Given the description of an element on the screen output the (x, y) to click on. 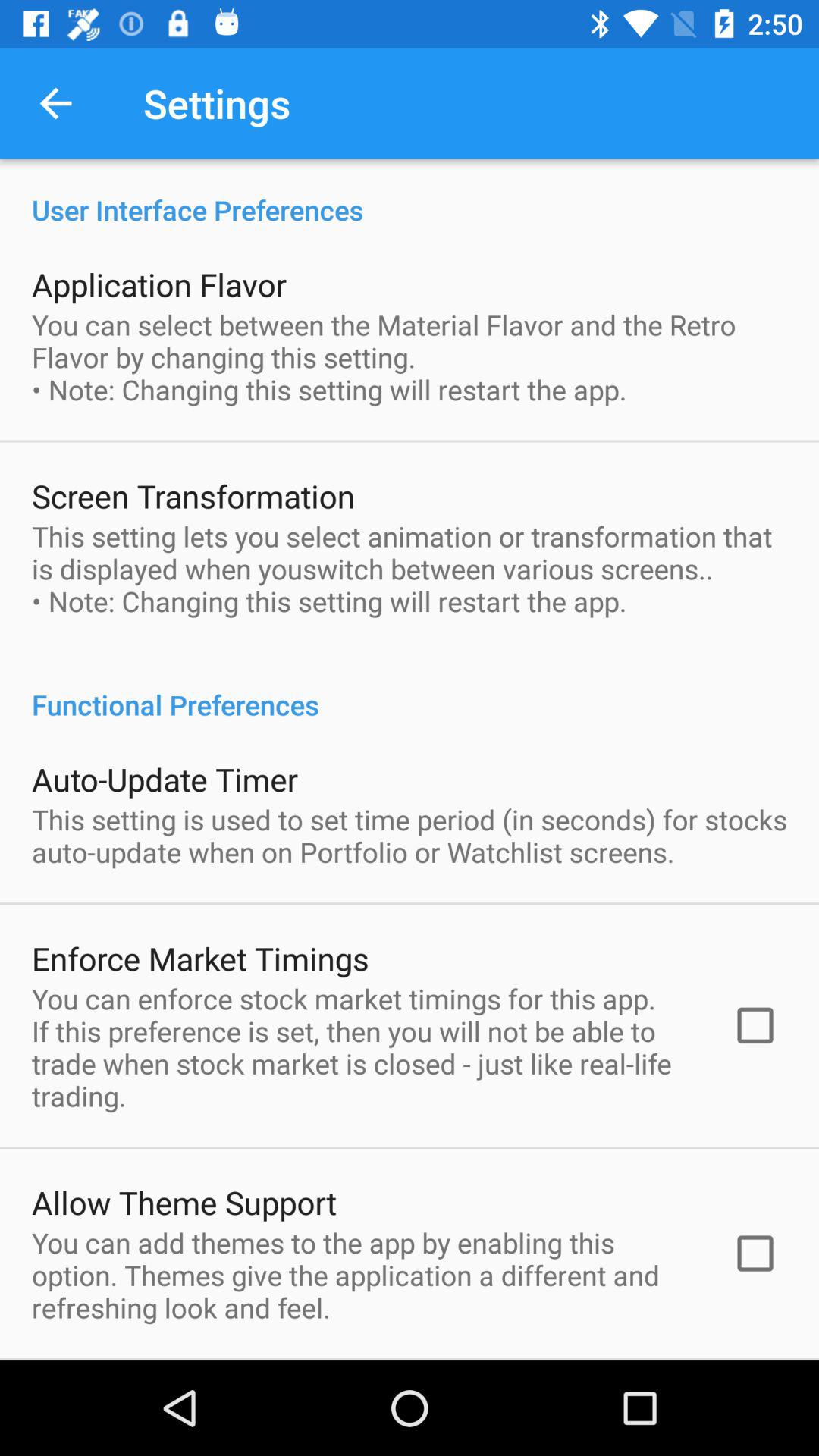
select functional preferences (409, 688)
